Given the description of an element on the screen output the (x, y) to click on. 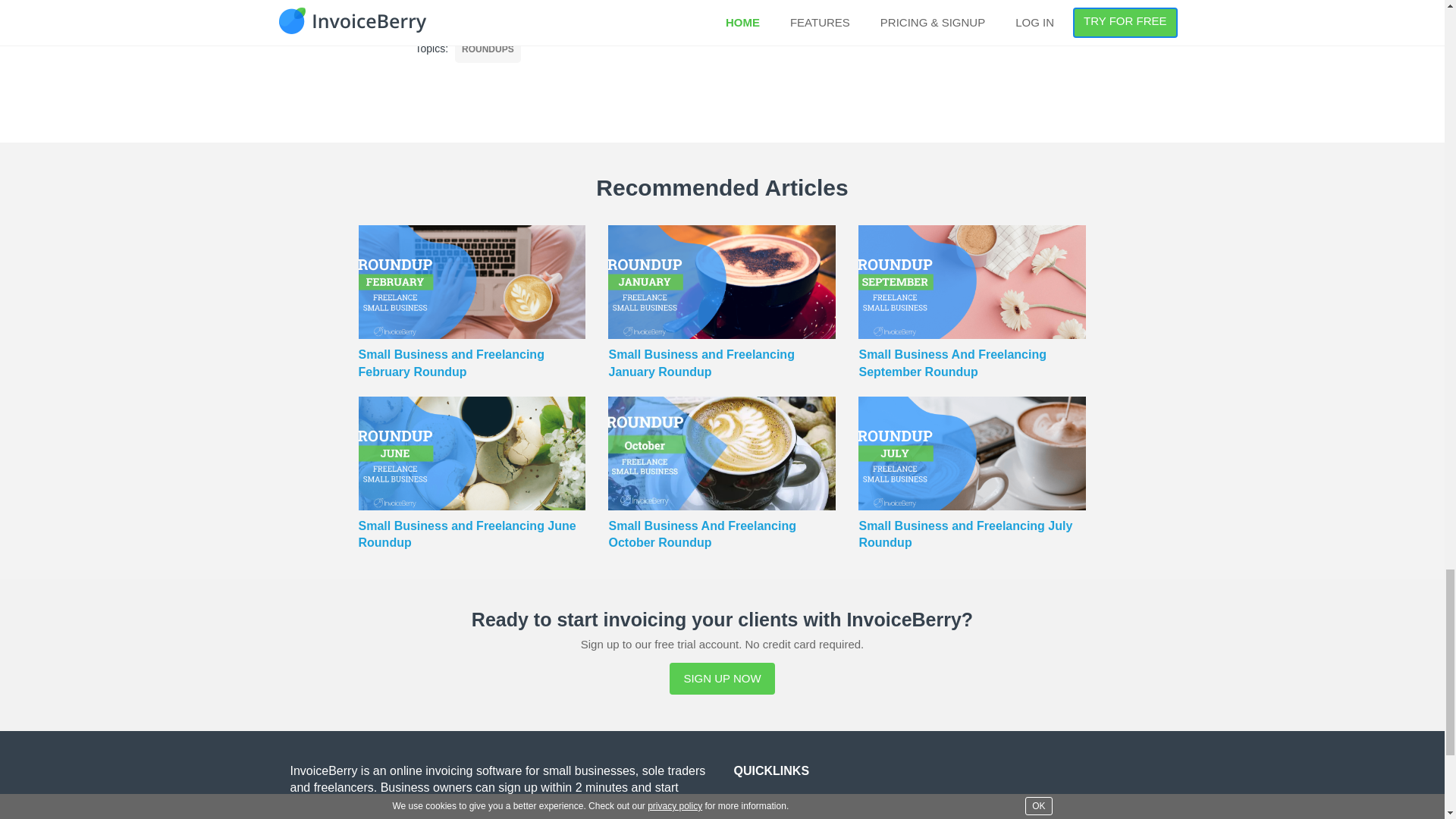
Small Business and Freelancing January Roundup (721, 423)
small-business-freelance-roundup-january (721, 282)
Small Business And Freelancing October Roundup (721, 594)
small-business-freelance-june-roundup (471, 452)
Small Business and Freelancing June Roundup (471, 594)
Small Business And Freelancing September Roundup (972, 423)
small-business-freelance-roundup-february (471, 282)
Small Business and Freelancing February Roundup (471, 423)
Small Business And Freelancing October Roundup (721, 452)
ROUNDUPS (487, 49)
